Given the description of an element on the screen output the (x, y) to click on. 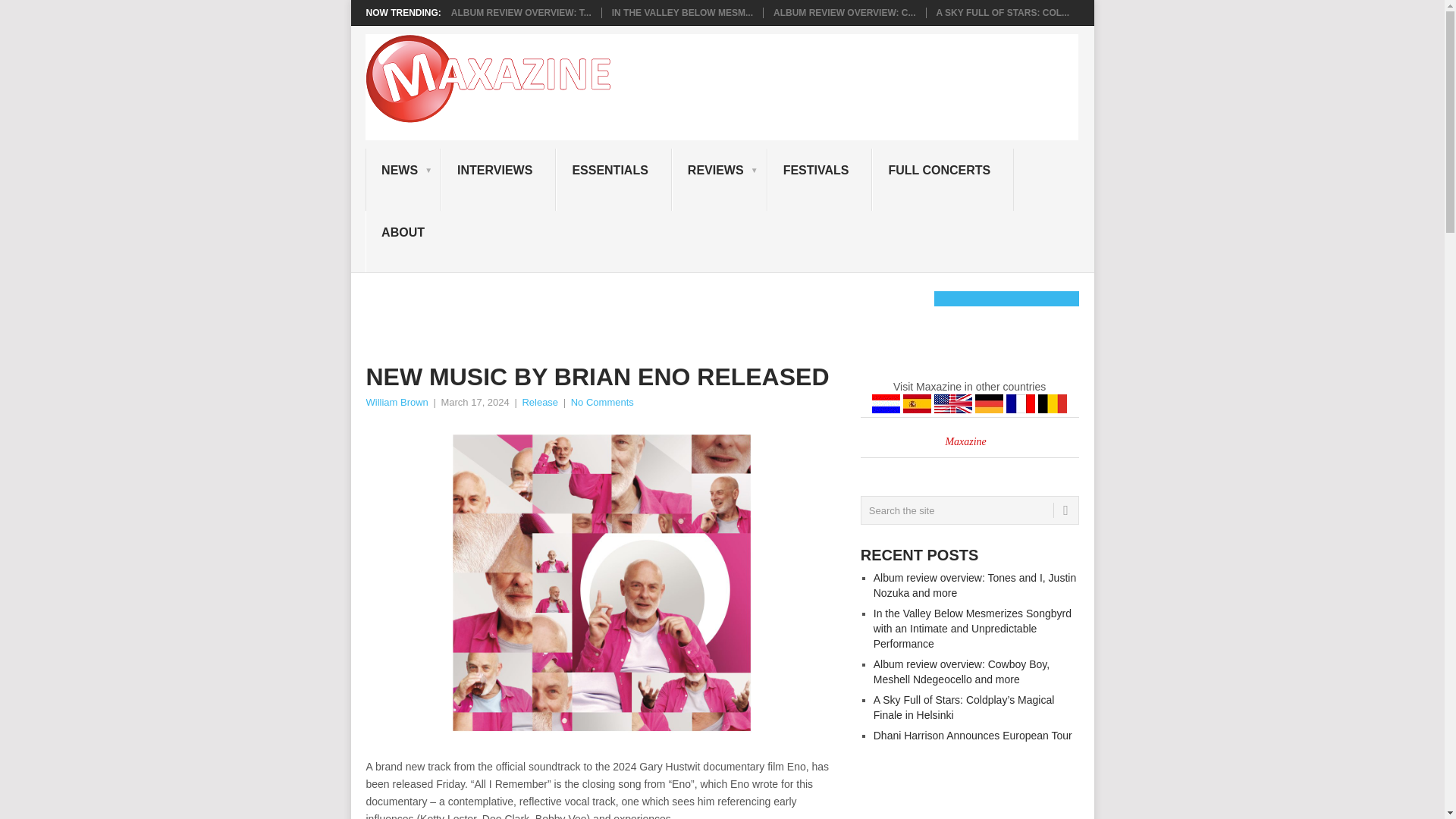
Album review overview: Tones and I, Justin Nozuka and more (521, 12)
Posts by William Brown (396, 401)
FULL CONCERTS (942, 179)
William Brown (396, 401)
ALBUM REVIEW OVERVIEW: C... (844, 12)
Search the site (969, 510)
A SKY FULL OF STARS: COL... (1003, 12)
Maxazine (964, 441)
ABOUT (405, 241)
REVIEWS (719, 179)
FESTIVALS (819, 179)
IN THE VALLEY BELOW MESM... (681, 12)
Release (539, 401)
ALBUM REVIEW OVERVIEW: T... (521, 12)
